Given the description of an element on the screen output the (x, y) to click on. 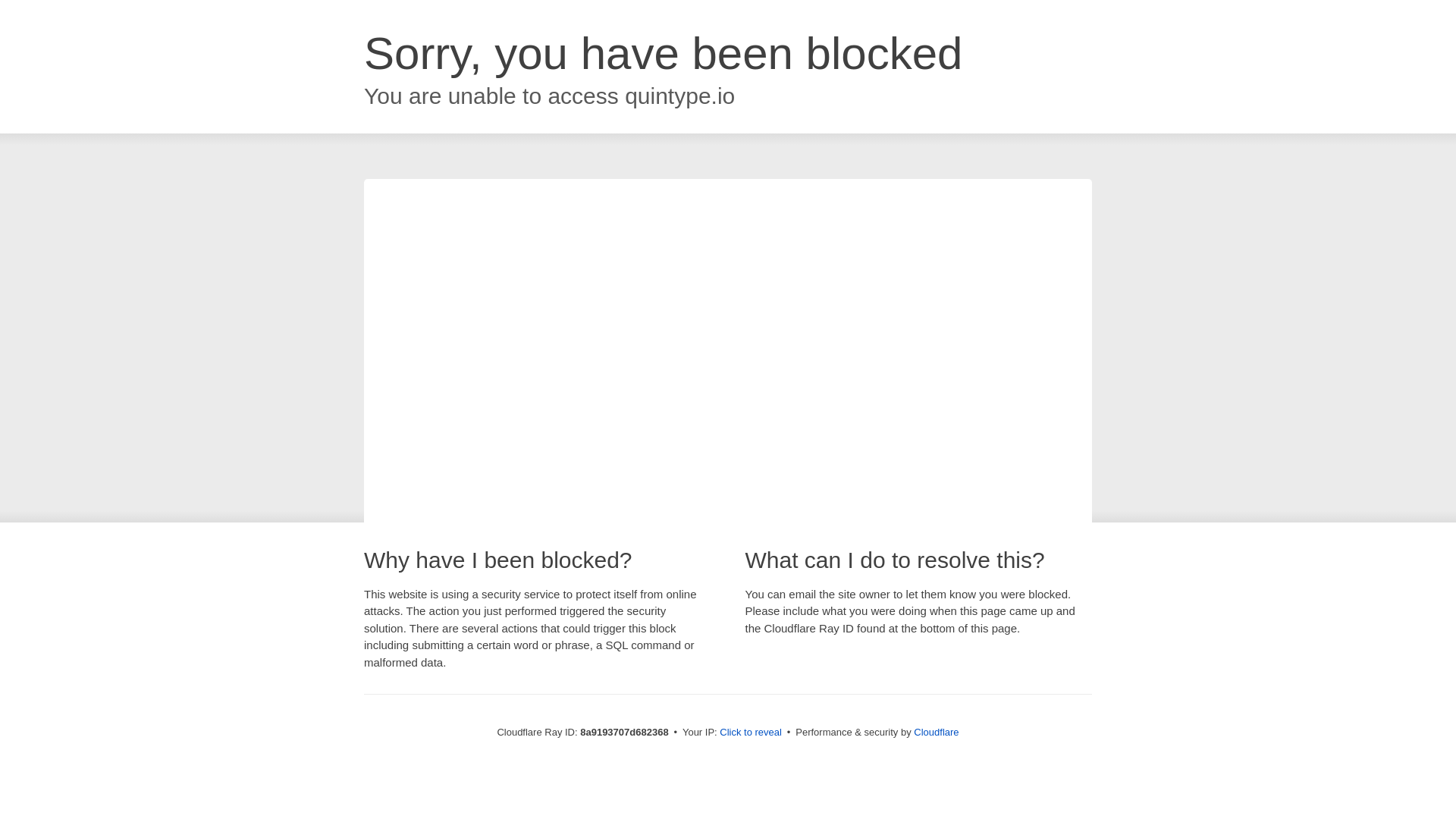
Cloudflare (936, 731)
Click to reveal (750, 732)
